Given the description of an element on the screen output the (x, y) to click on. 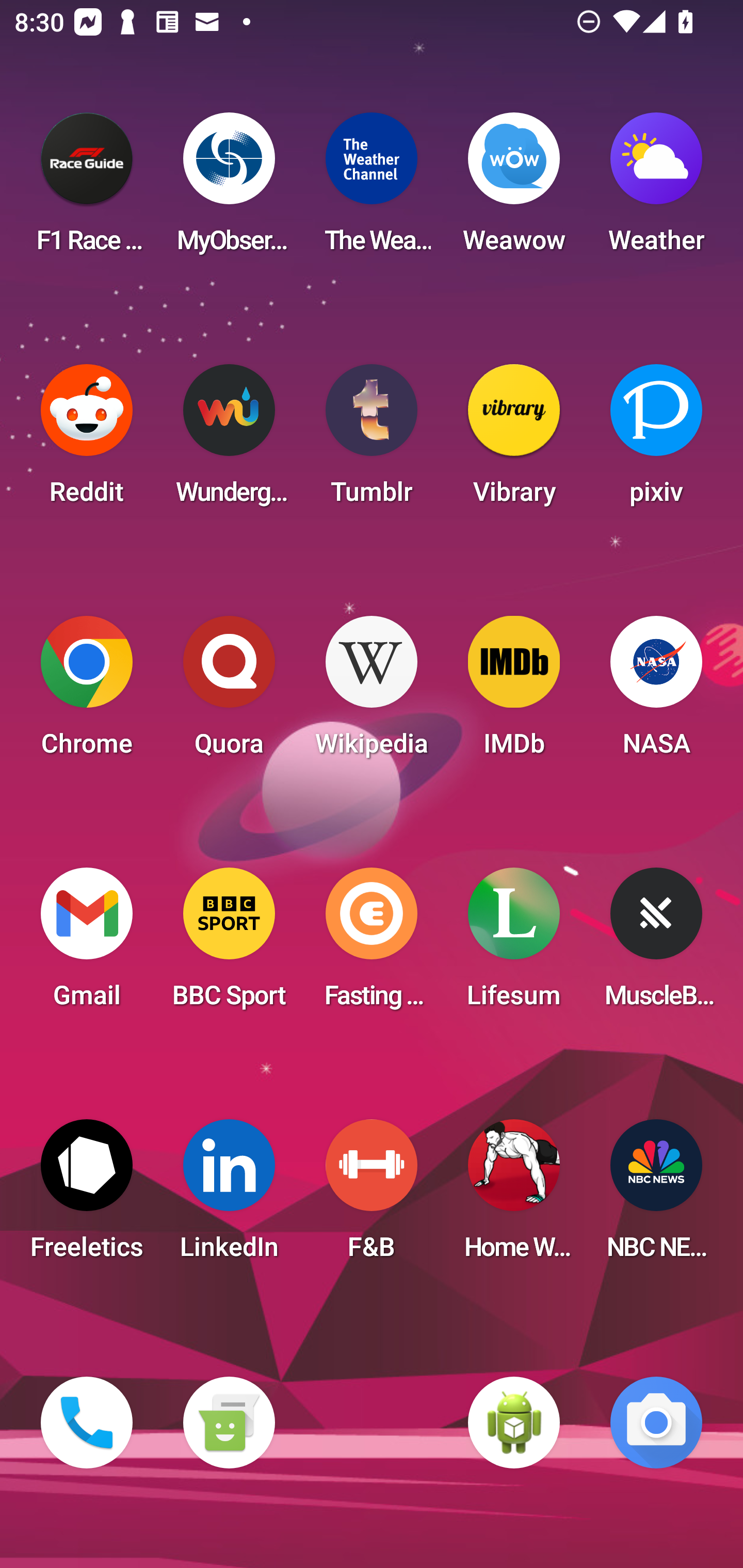
F1 Race Guide (86, 188)
MyObservatory (228, 188)
The Weather Channel (371, 188)
Weawow (513, 188)
Weather (656, 188)
Reddit (86, 440)
Wunderground (228, 440)
Tumblr (371, 440)
Vibrary (513, 440)
pixiv (656, 440)
Chrome (86, 692)
Quora (228, 692)
Wikipedia (371, 692)
IMDb (513, 692)
NASA (656, 692)
Gmail (86, 943)
BBC Sport (228, 943)
Fasting Coach (371, 943)
Lifesum (513, 943)
MuscleBooster (656, 943)
Freeletics (86, 1195)
LinkedIn (228, 1195)
F&B (371, 1195)
Home Workout (513, 1195)
NBC NEWS (656, 1195)
Phone (86, 1422)
Messaging (228, 1422)
WebView Browser Tester (513, 1422)
Camera (656, 1422)
